Given the description of an element on the screen output the (x, y) to click on. 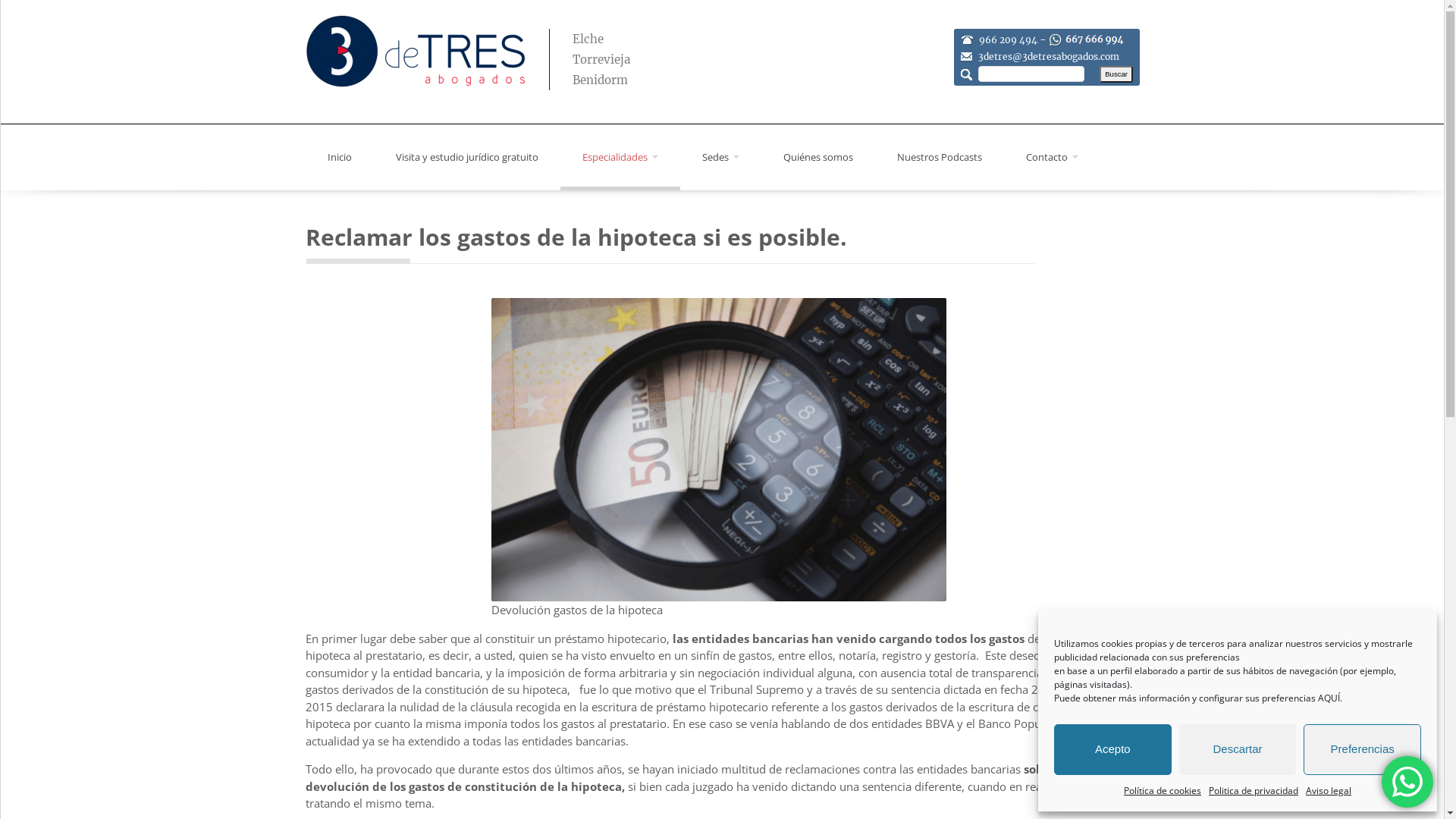
Nuestros Podcasts Element type: text (939, 157)
Sedes Element type: text (719, 157)
WhatsApp Element type: hover (1407, 781)
Aviso legal Element type: text (1328, 791)
Preferencias Element type: text (1362, 748)
Especialidades Element type: text (619, 157)
3detres Abogados Elche Element type: hover (414, 51)
Acepto Element type: text (1112, 748)
Inicio Element type: text (338, 157)
Contacto Element type: text (1052, 157)
966 209 494 Element type: text (1008, 39)
Politica de privacidad Element type: text (1253, 791)
Buscar Element type: text (1115, 73)
Descartar Element type: text (1237, 748)
3detres@3detresabogados.com Element type: text (1048, 56)
